Given the description of an element on the screen output the (x, y) to click on. 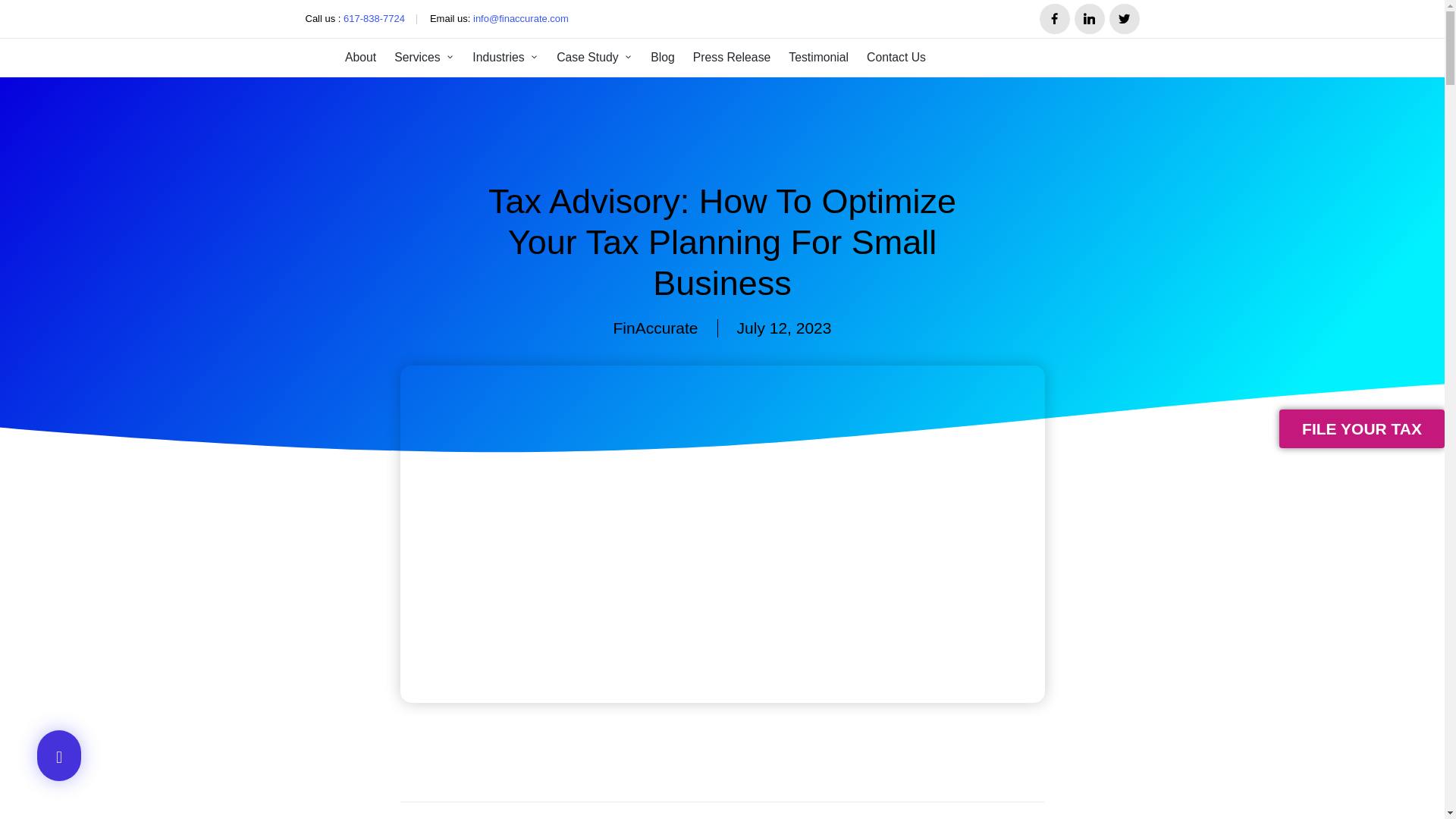
Testimonial (818, 57)
FinAccurate (654, 328)
Services (424, 57)
Press Release (731, 57)
Case Study (593, 57)
Industries (504, 57)
About (360, 57)
Blog (662, 57)
617-838-7724 (373, 19)
July 12, 2023 (783, 328)
